Given the description of an element on the screen output the (x, y) to click on. 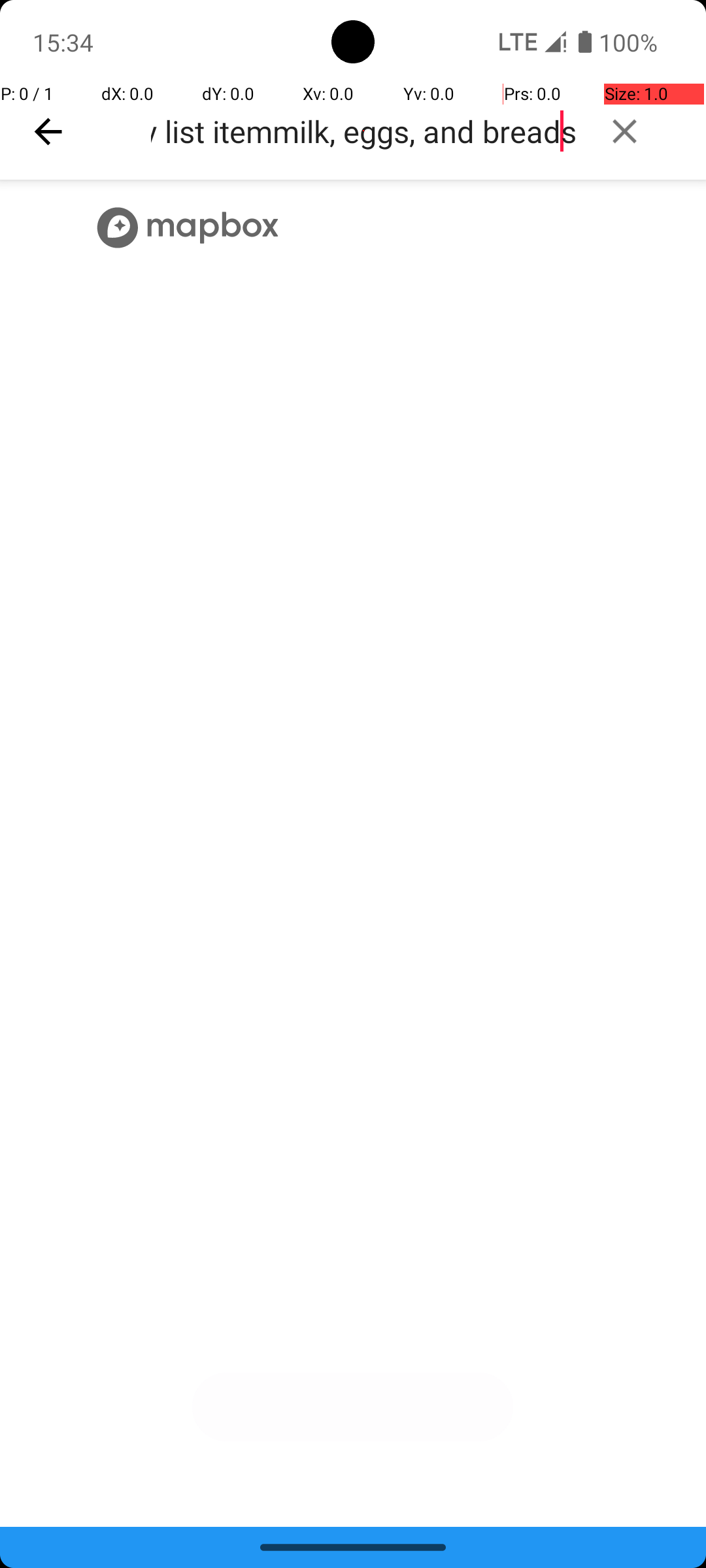
grocery list itemmilk, eggs, and breads Element type: android.widget.AutoCompleteTextView (363, 130)
